Given the description of an element on the screen output the (x, y) to click on. 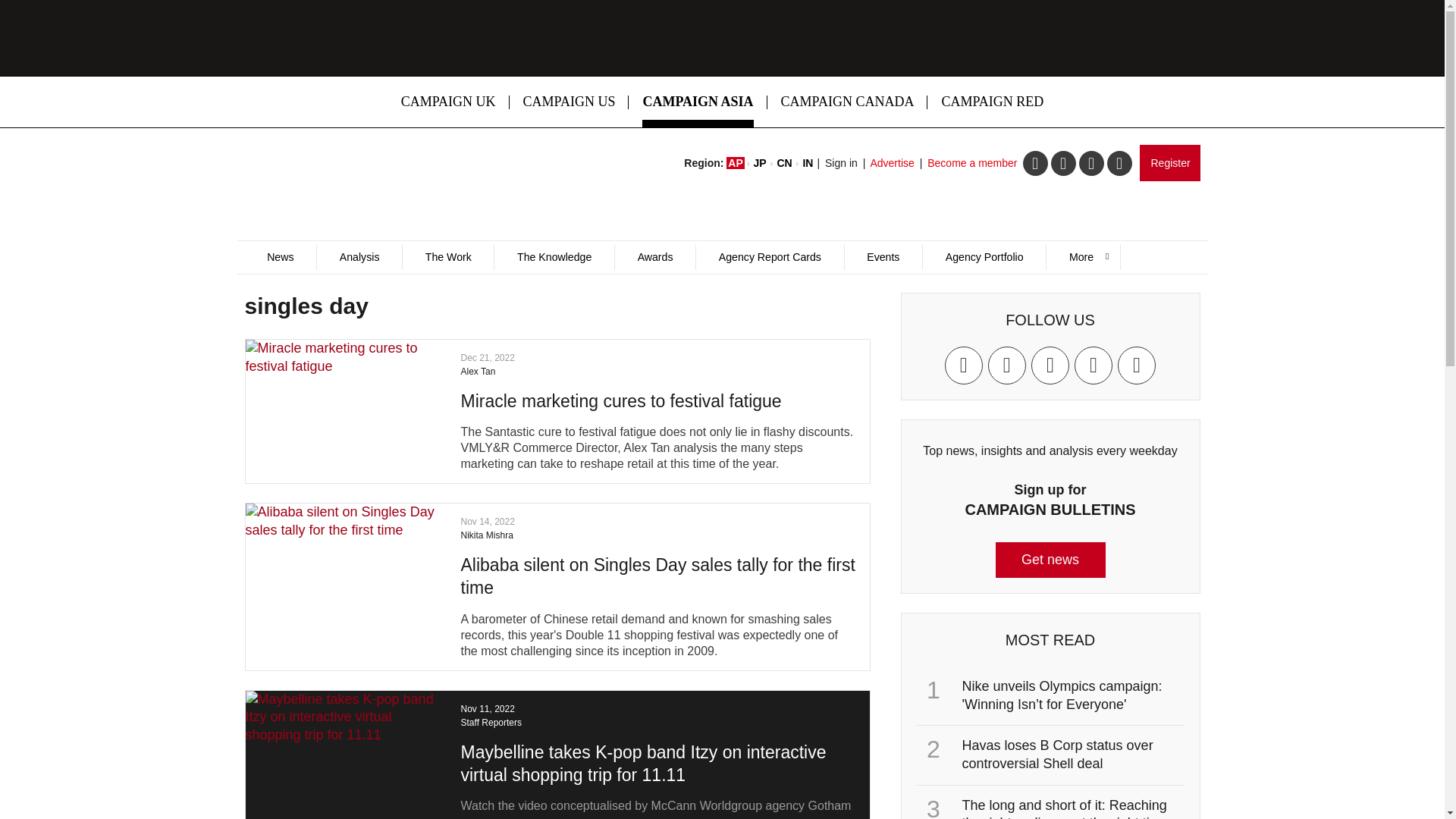
More (1082, 257)
The Work (447, 257)
CAMPAIGN ASIA (697, 101)
The Work (447, 257)
CN (783, 162)
JP (760, 162)
Advertise (891, 162)
CAMPAIGN CANADA (847, 101)
The Knowledge (553, 257)
Agency Report Cards (769, 257)
More (1082, 257)
Become a member (971, 162)
Search (952, 310)
Agency Report Cards (769, 257)
Sign in (841, 162)
